Given the description of an element on the screen output the (x, y) to click on. 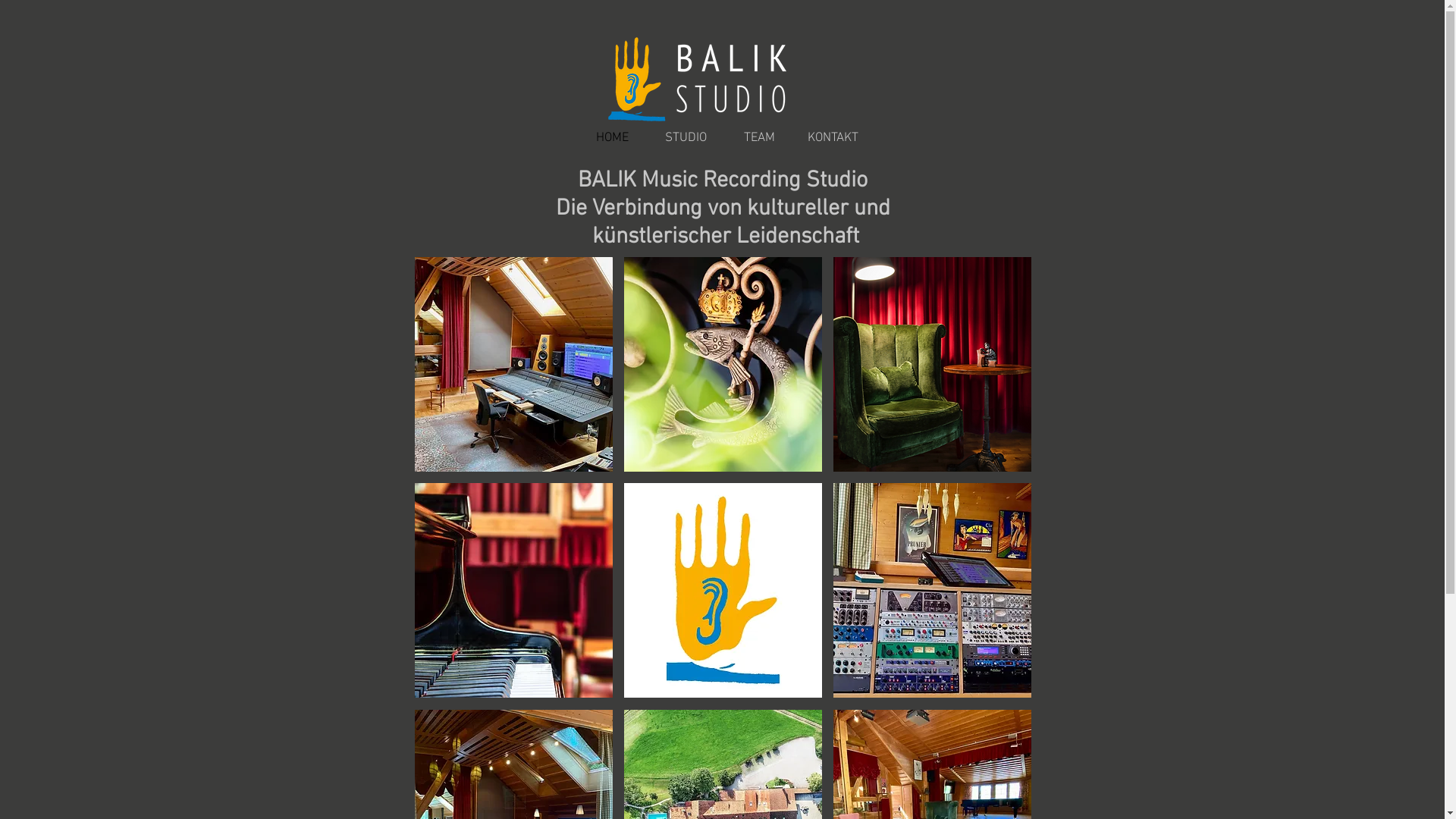
HOME Element type: text (611, 138)
KONTAKT Element type: text (832, 138)
Balik Studio Ebersol Element type: hover (710, 93)
STUDIO Element type: text (685, 138)
TEAM Element type: text (758, 138)
